Given the description of an element on the screen output the (x, y) to click on. 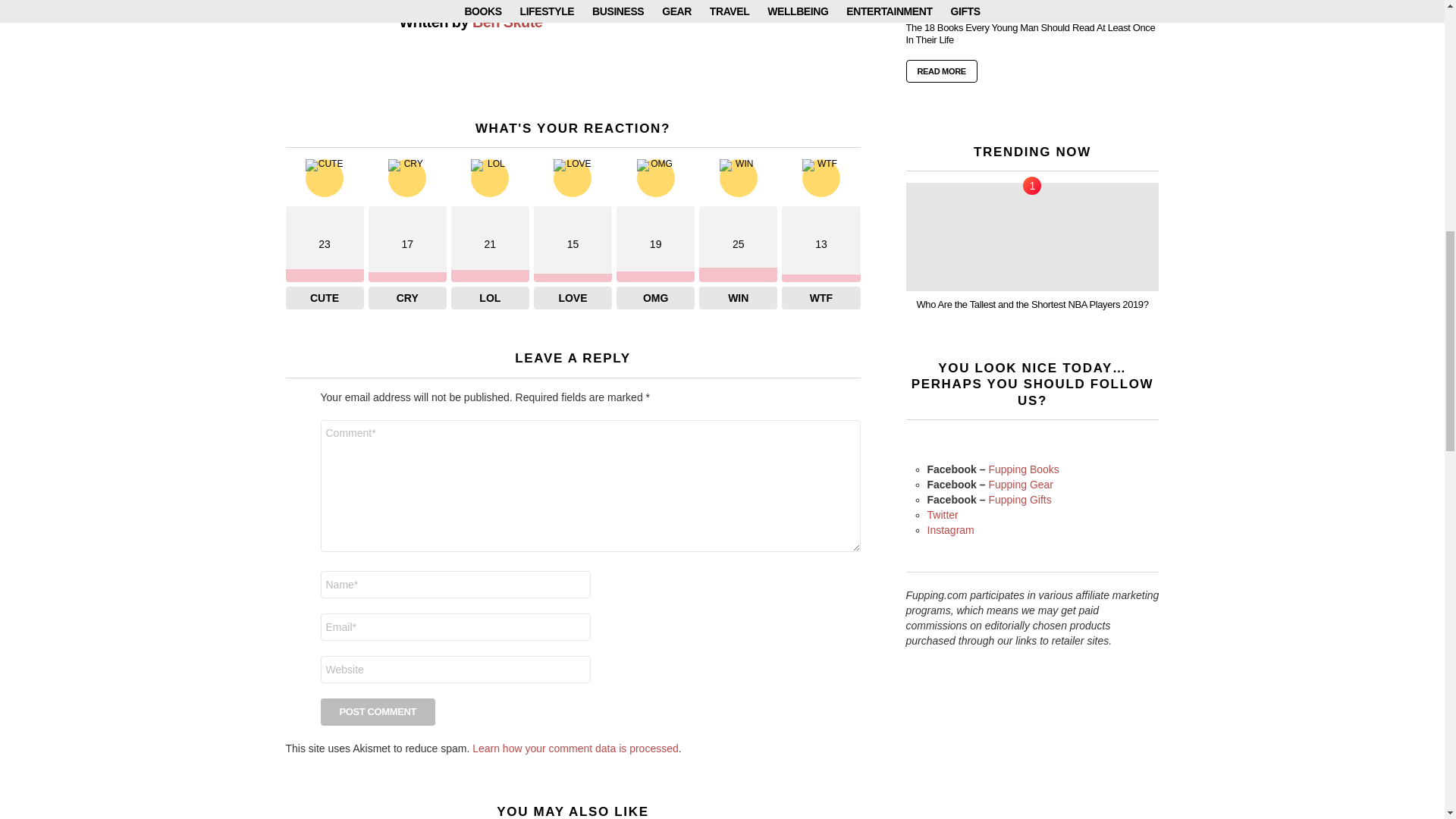
Post Comment (377, 711)
Who Are the Tallest and the Shortest NBA Players 2019? (1031, 236)
